Given the description of an element on the screen output the (x, y) to click on. 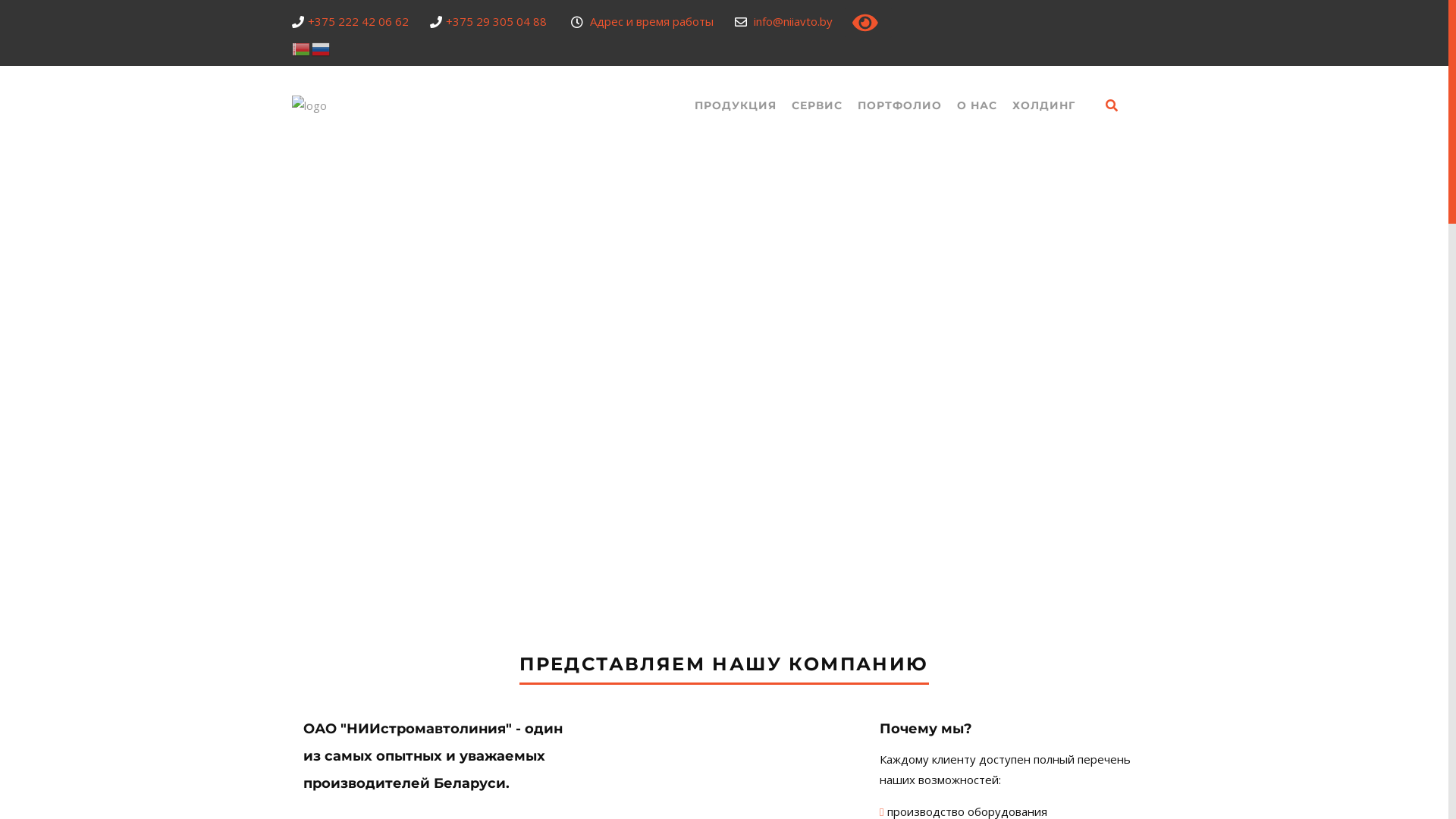
+375 222 42 06 62 Element type: text (357, 20)
+375 29 305 04 88 Element type: text (959, 593)
info@niiavto.by Element type: text (792, 20)
Russian Element type: hover (321, 47)
+375 222 42 06 62 Element type: text (956, 622)
info@niiavto.by Element type: text (948, 650)
+375 29 305 04 88 Element type: text (495, 20)
Belarusian Element type: hover (301, 47)
